Given the description of an element on the screen output the (x, y) to click on. 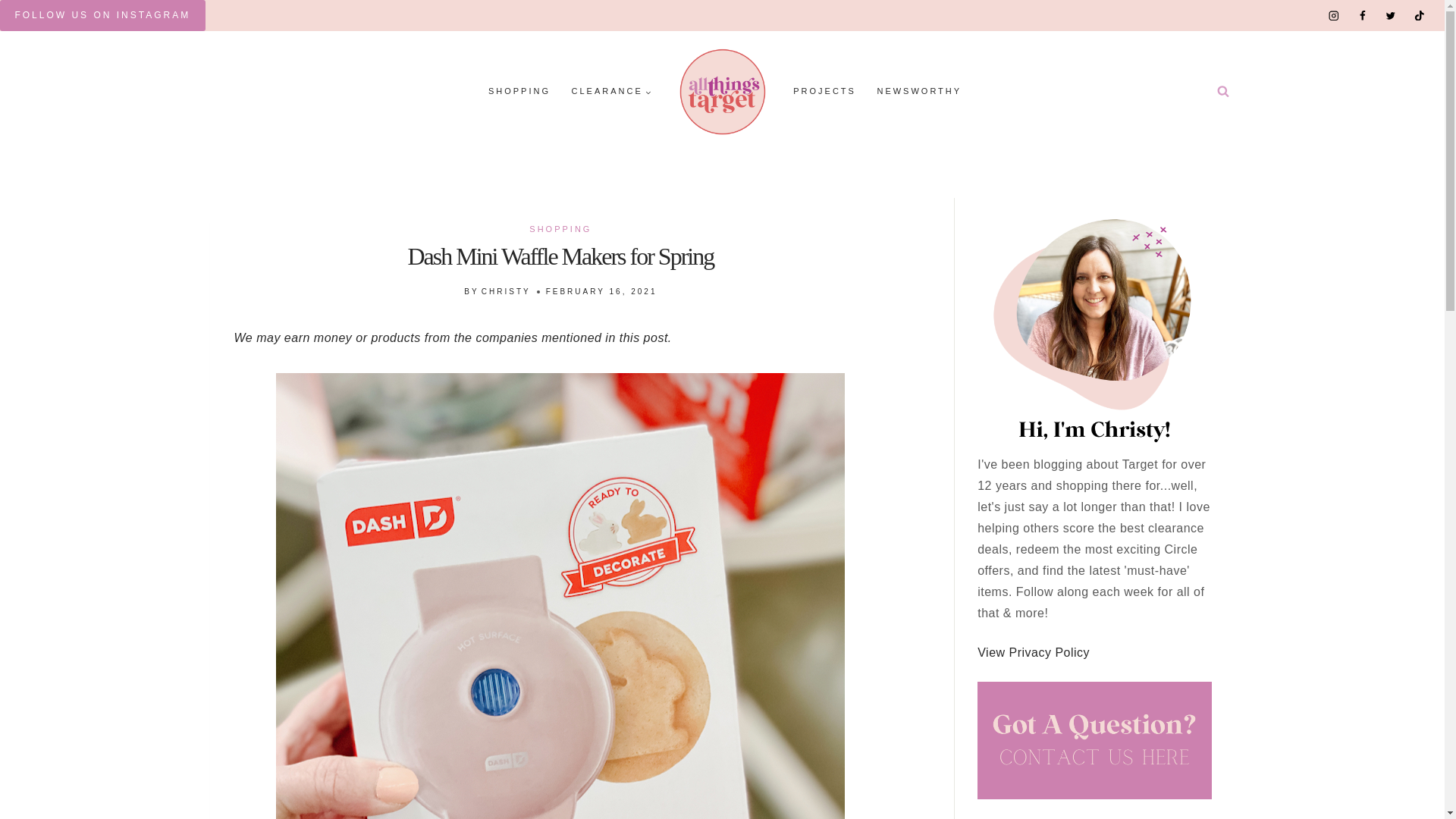
CHRISTY (506, 291)
PROJECTS (824, 92)
SHOPPING (518, 92)
FOLLOW US ON INSTAGRAM (102, 15)
NEWSWORTHY (919, 92)
SHOPPING (560, 228)
CLEARANCE (611, 92)
